Given the description of an element on the screen output the (x, y) to click on. 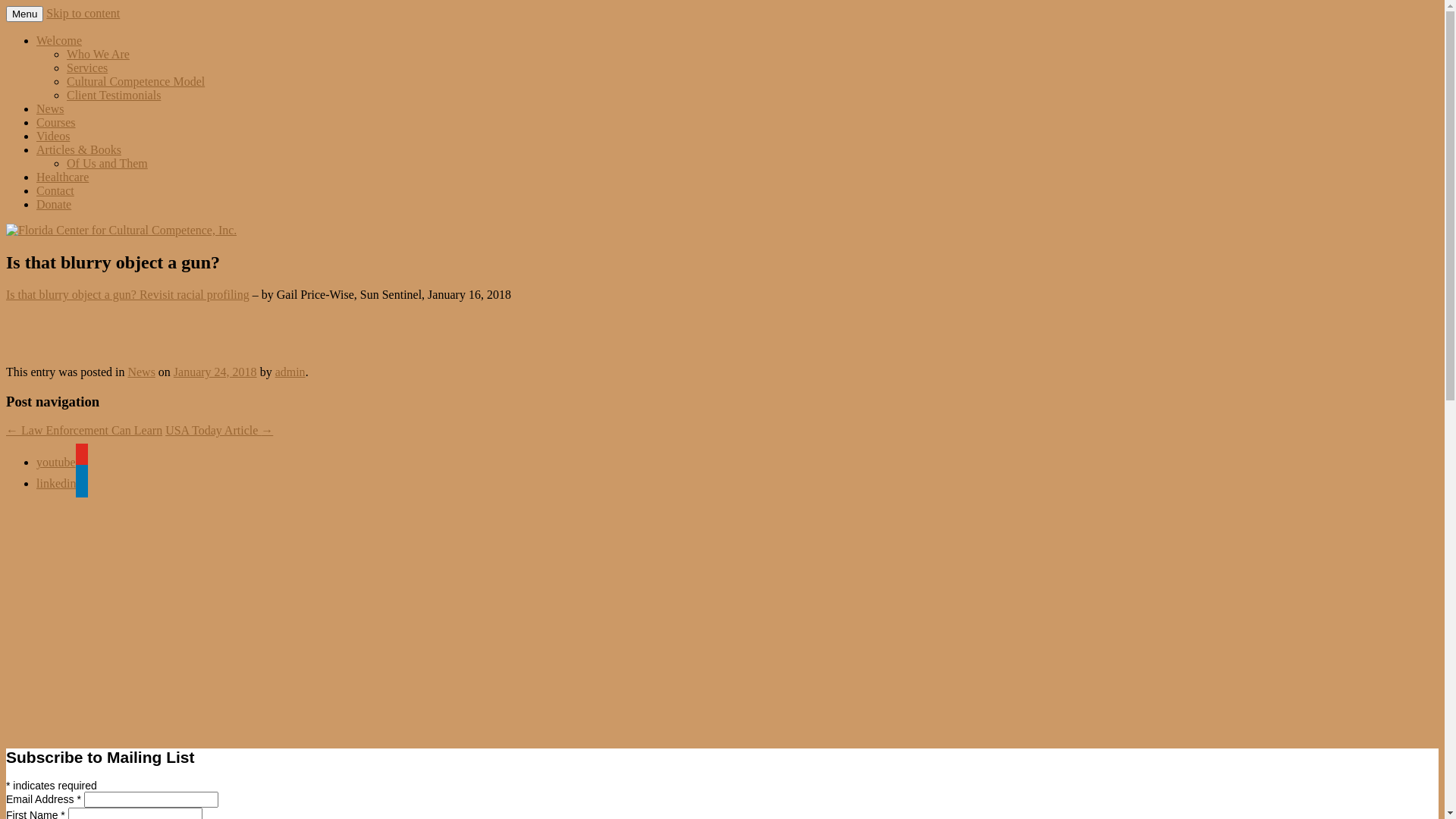
Of Us and Them Element type: text (106, 162)
Articles & Books Element type: text (78, 149)
News Element type: text (49, 108)
News Element type: text (140, 371)
Menu Element type: text (24, 13)
linkedin Element type: text (61, 482)
January 24, 2018 Element type: text (215, 371)
youtube Element type: text (61, 461)
Client Testimonials Element type: text (113, 94)
Skip to content Element type: text (82, 12)
Is that blurry object a gun? Revisit racial profiling Element type: text (127, 294)
admin Element type: text (290, 371)
Cultural Competence Model Element type: text (135, 81)
Florida Center for Cultural Competence, Inc. Element type: text (241, 35)
Healthcare Element type: text (62, 176)
Welcome Element type: text (58, 40)
Who We Are Element type: text (97, 53)
Videos Element type: text (52, 135)
Courses Element type: text (55, 122)
Donate Element type: text (53, 203)
Contact Element type: text (55, 190)
Services Element type: text (86, 67)
